Given the description of an element on the screen output the (x, y) to click on. 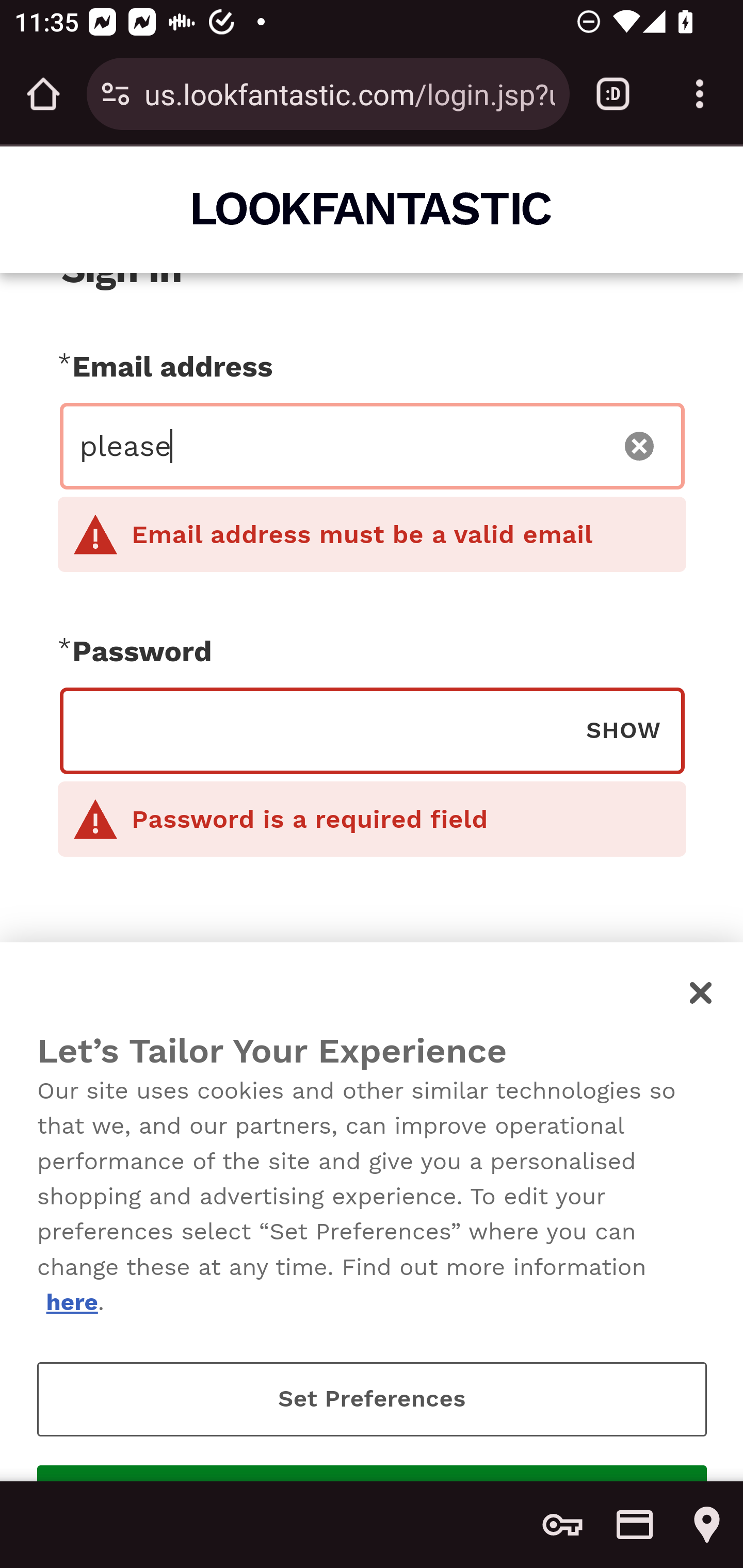
Open the home page (43, 93)
Connection is secure (115, 93)
Switch or close tabs (612, 93)
Customize and control Google Chrome (699, 93)
Lookfantastic USA Home page (372, 208)
please (339, 445)
Clear field (639, 445)
Show Password (623, 729)
Close (701, 992)
Sign in to your account (371, 1070)
here (71, 1302)
Set Preferences (372, 1399)
Show saved passwords and password options (562, 1524)
Show saved payment methods (634, 1524)
Show saved addresses (706, 1524)
